Given the description of an element on the screen output the (x, y) to click on. 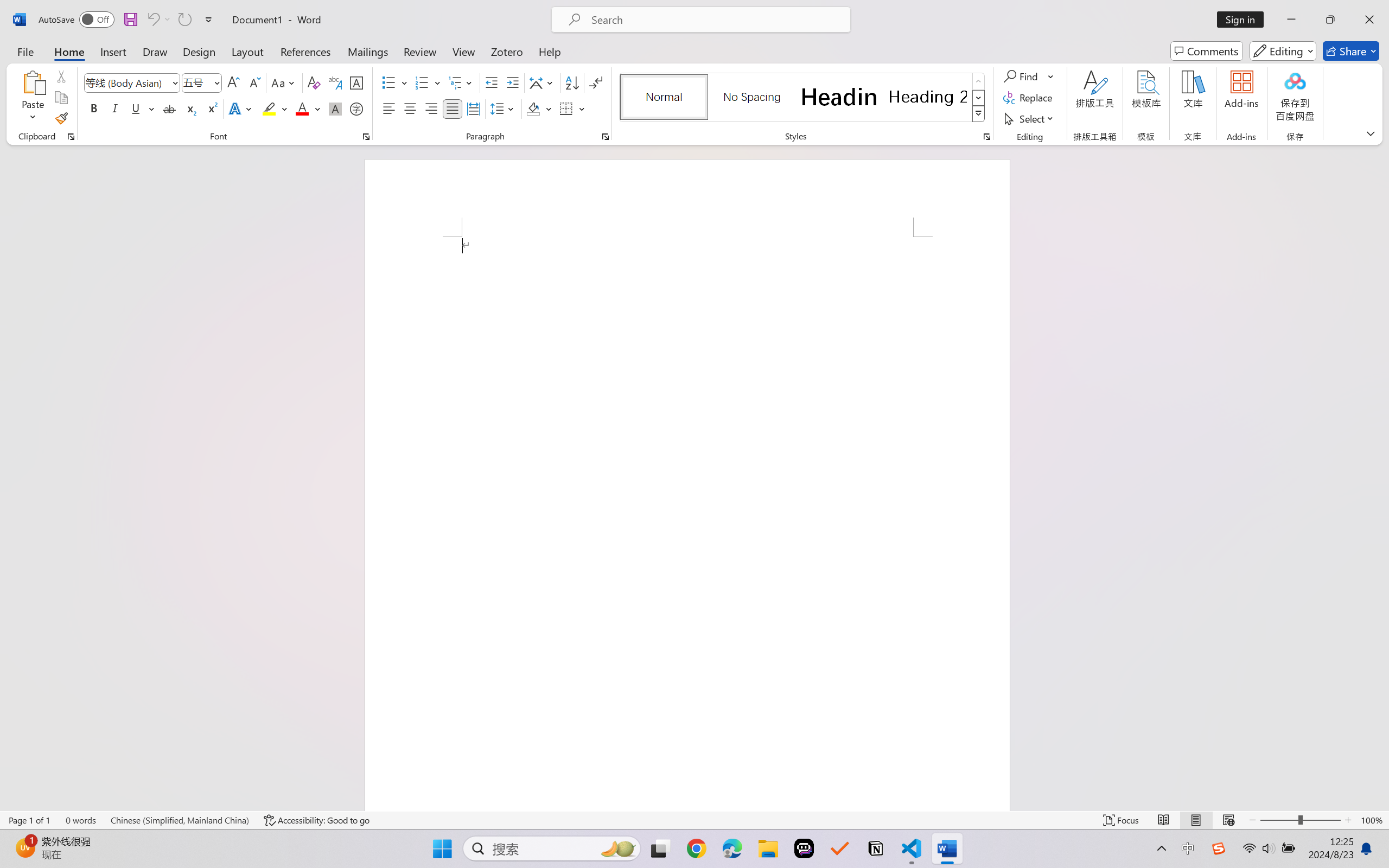
Language Chinese (Simplified, Mainland China) (179, 819)
AutomationID: QuickStylesGallery (802, 97)
Can't Undo (152, 19)
